Given the description of an element on the screen output the (x, y) to click on. 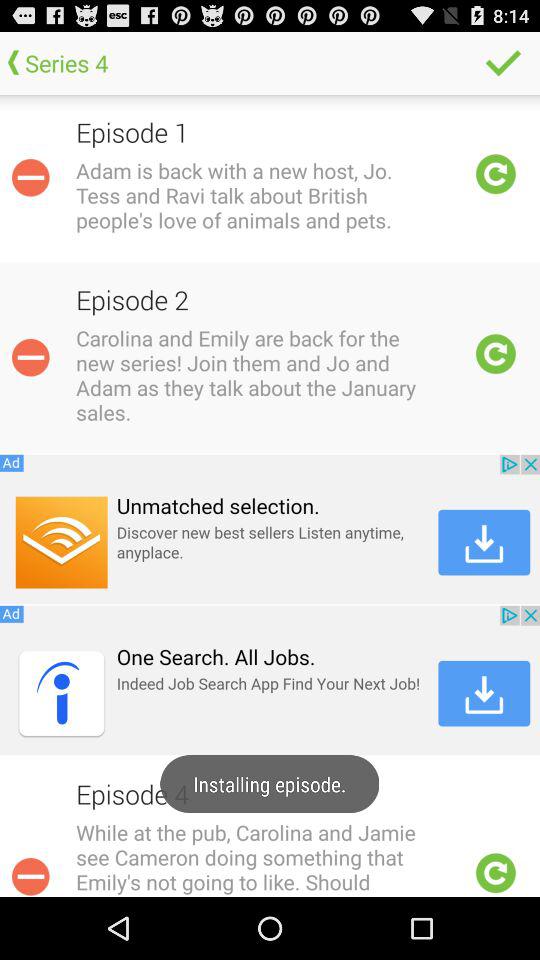
remove (30, 177)
